Given the description of an element on the screen output the (x, y) to click on. 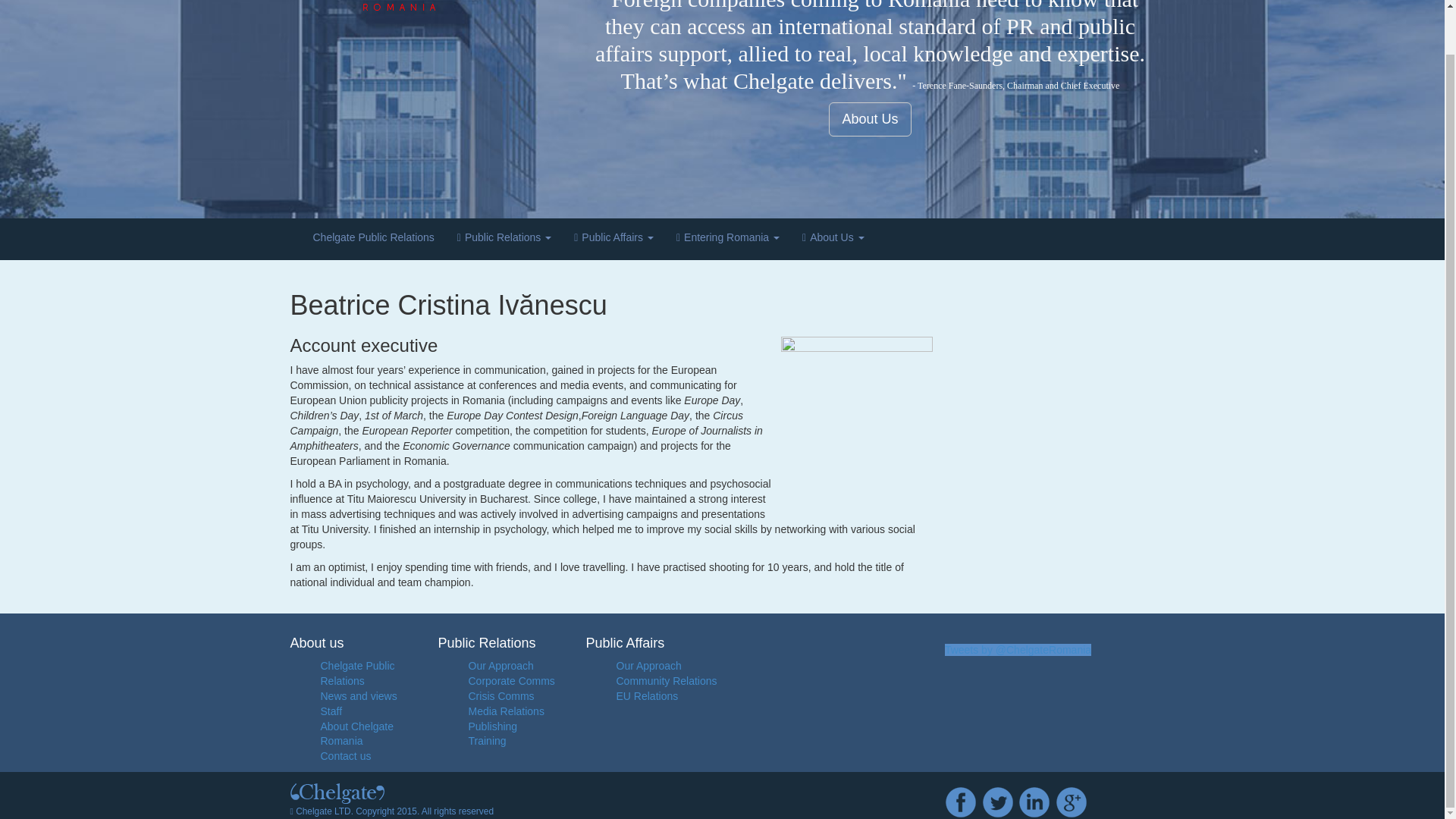
Contact us (345, 756)
Public Affairs (613, 239)
About Us (833, 239)
Publishing (493, 726)
News and views (358, 695)
Chelgate Public Relations (357, 673)
Media Relations (506, 711)
About Us (869, 118)
Chelgate (433, 5)
Training (487, 740)
Public Relations (503, 239)
Staff (331, 711)
Our Approach (501, 665)
Crisis Comms (501, 695)
Corporate Comms (511, 680)
